Given the description of an element on the screen output the (x, y) to click on. 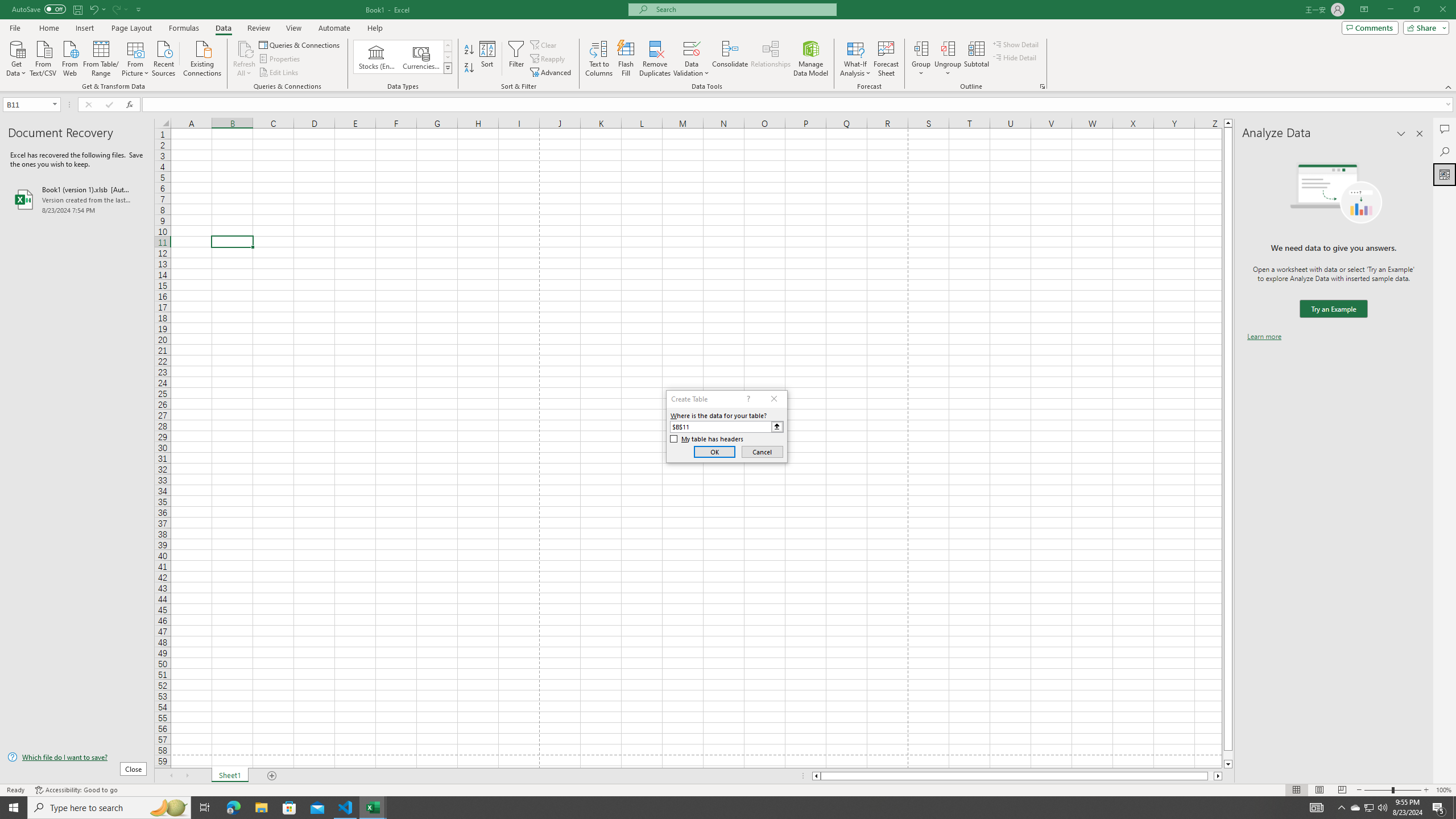
Page Break Preview (1342, 790)
Existing Connections (202, 57)
Flash Fill (625, 58)
System (6, 6)
View (293, 28)
Stocks (English) (375, 56)
More Options (947, 68)
Which file do I want to save? (77, 757)
Redo (119, 9)
File Tab (15, 27)
Add Sheet (272, 775)
Data Types (448, 67)
Sort... (487, 58)
Ungroup... (947, 58)
Automate (334, 28)
